Given the description of an element on the screen output the (x, y) to click on. 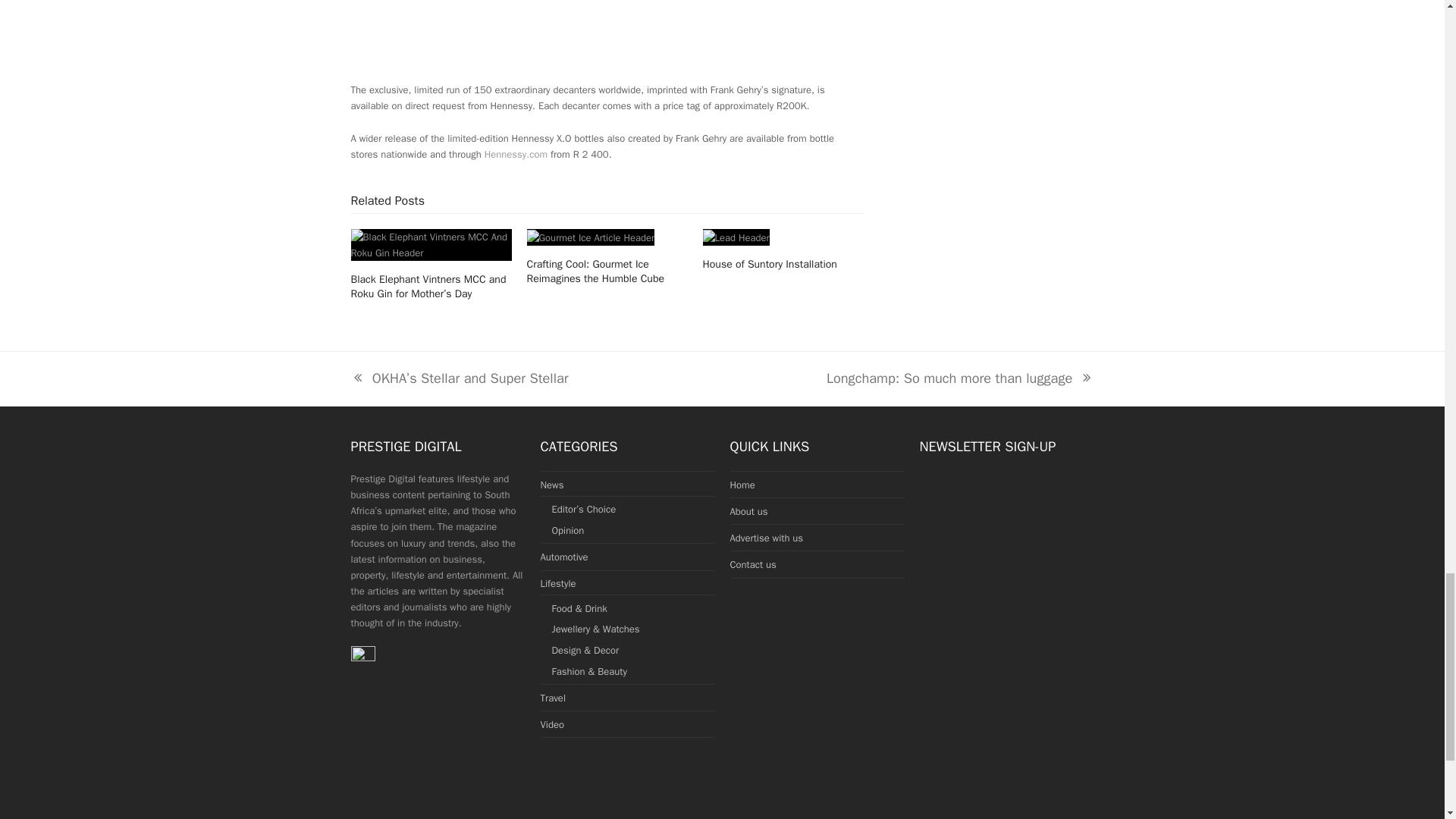
Lifestyle (557, 583)
House of Suntory Installation (770, 264)
House of Suntory Installation (736, 237)
Automotive (960, 377)
Crafting Cool: Gourmet Ice Reimagines the Humble Cube (564, 556)
Hennessy.com (591, 237)
Opinion (515, 154)
News (568, 530)
Crafting Cool: Gourmet Ice Reimagines the Humble Cube (551, 483)
